Given the description of an element on the screen output the (x, y) to click on. 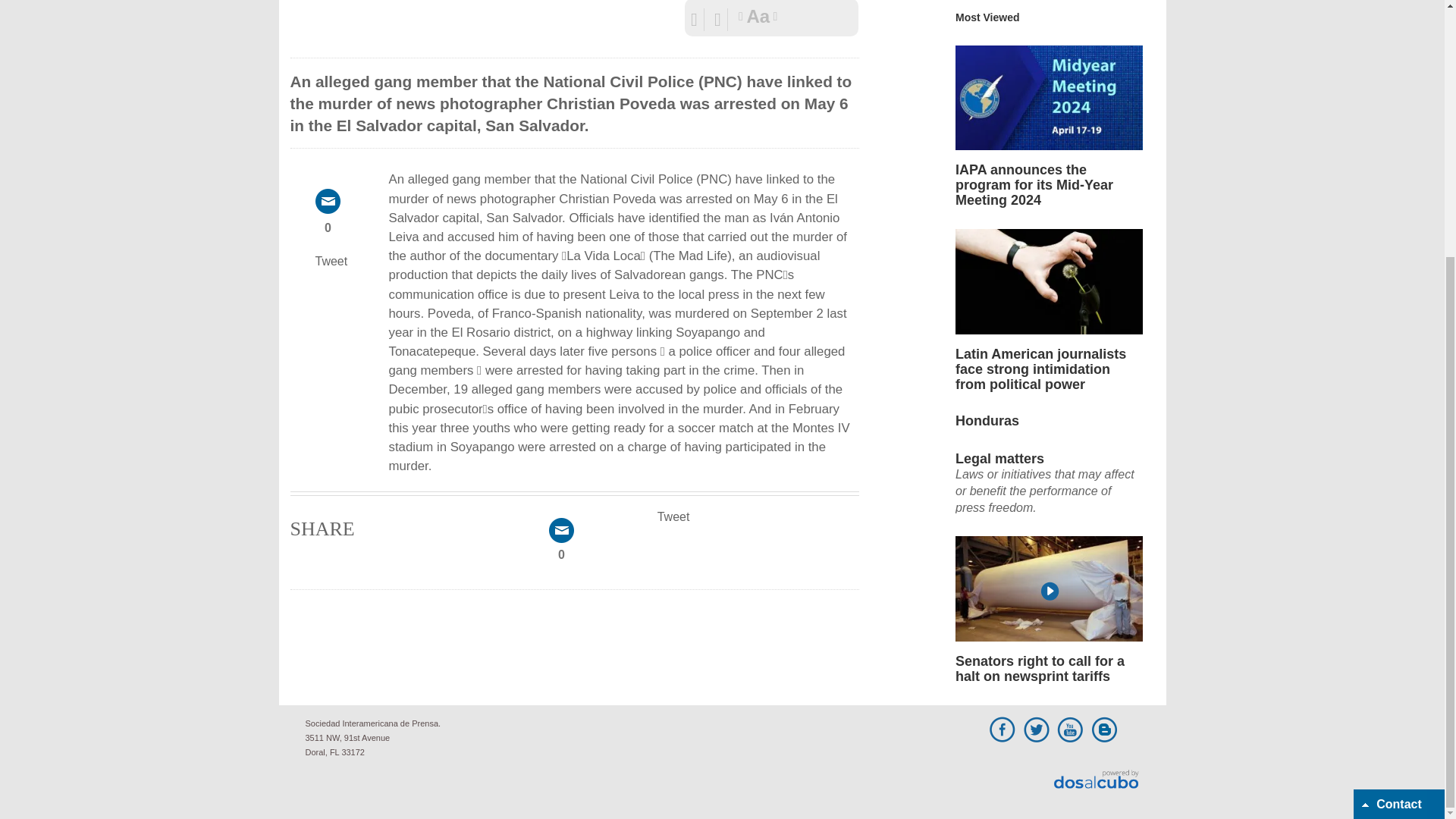
IAPA announces the program for its Mid-Year Meeting 2024 (1048, 97)
Senators right to call for a halt on newsprint tariffs (1048, 543)
IAPA announces the program for its Mid-Year Meeting 2024 (1048, 51)
